Given the description of an element on the screen output the (x, y) to click on. 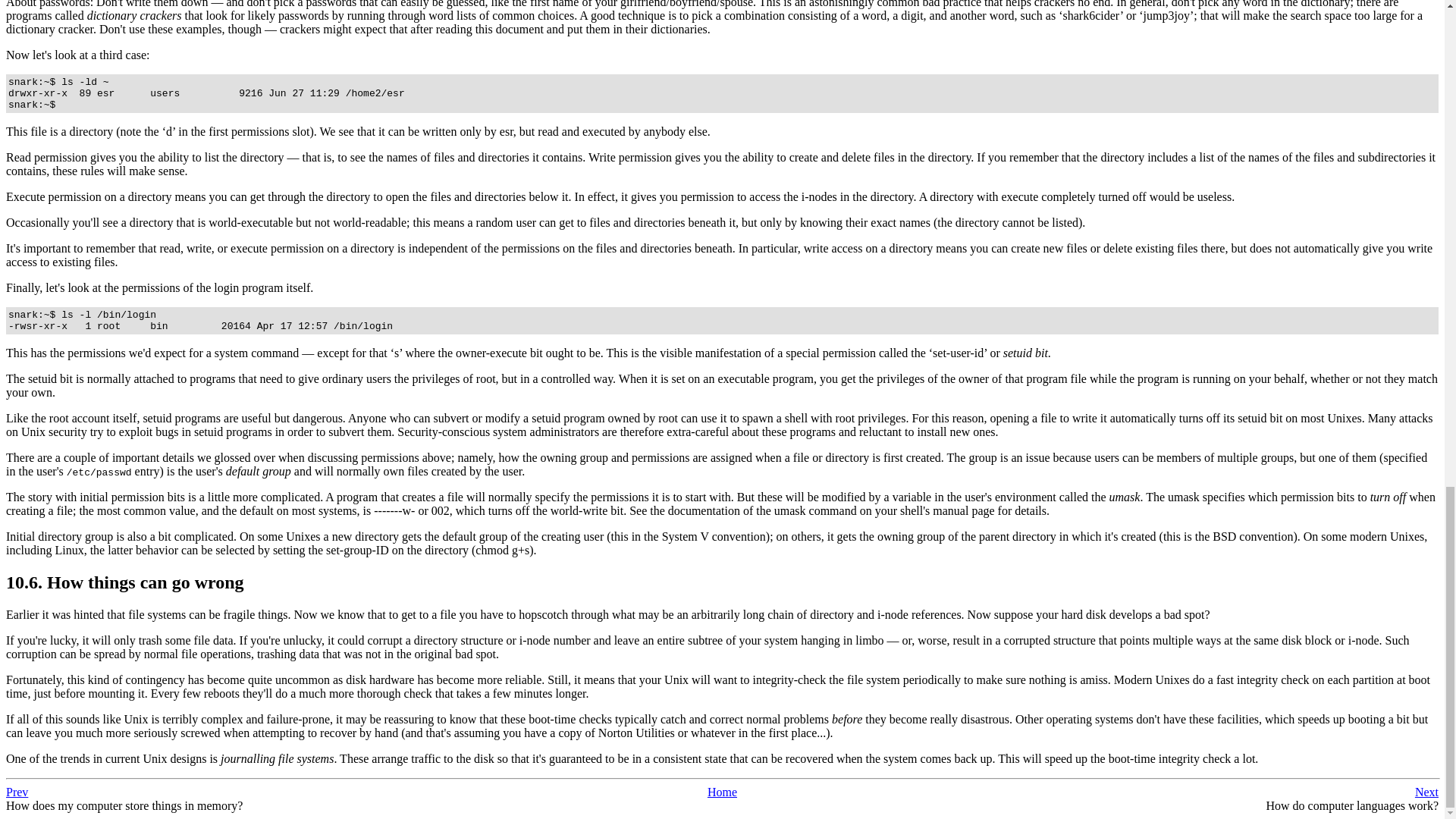
Prev (16, 791)
Home (721, 791)
Next (1426, 791)
